Given the description of an element on the screen output the (x, y) to click on. 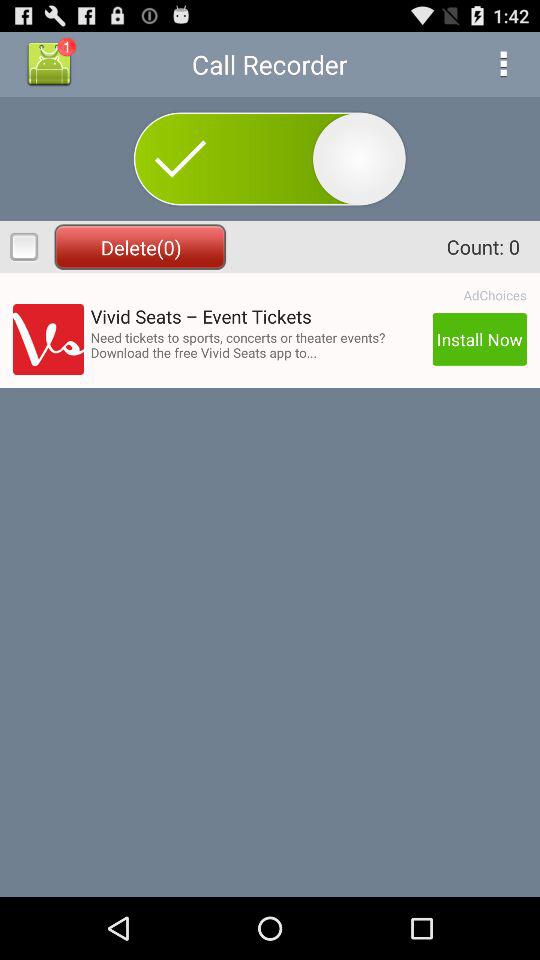
select app next to vivid seats event app (494, 295)
